Given the description of an element on the screen output the (x, y) to click on. 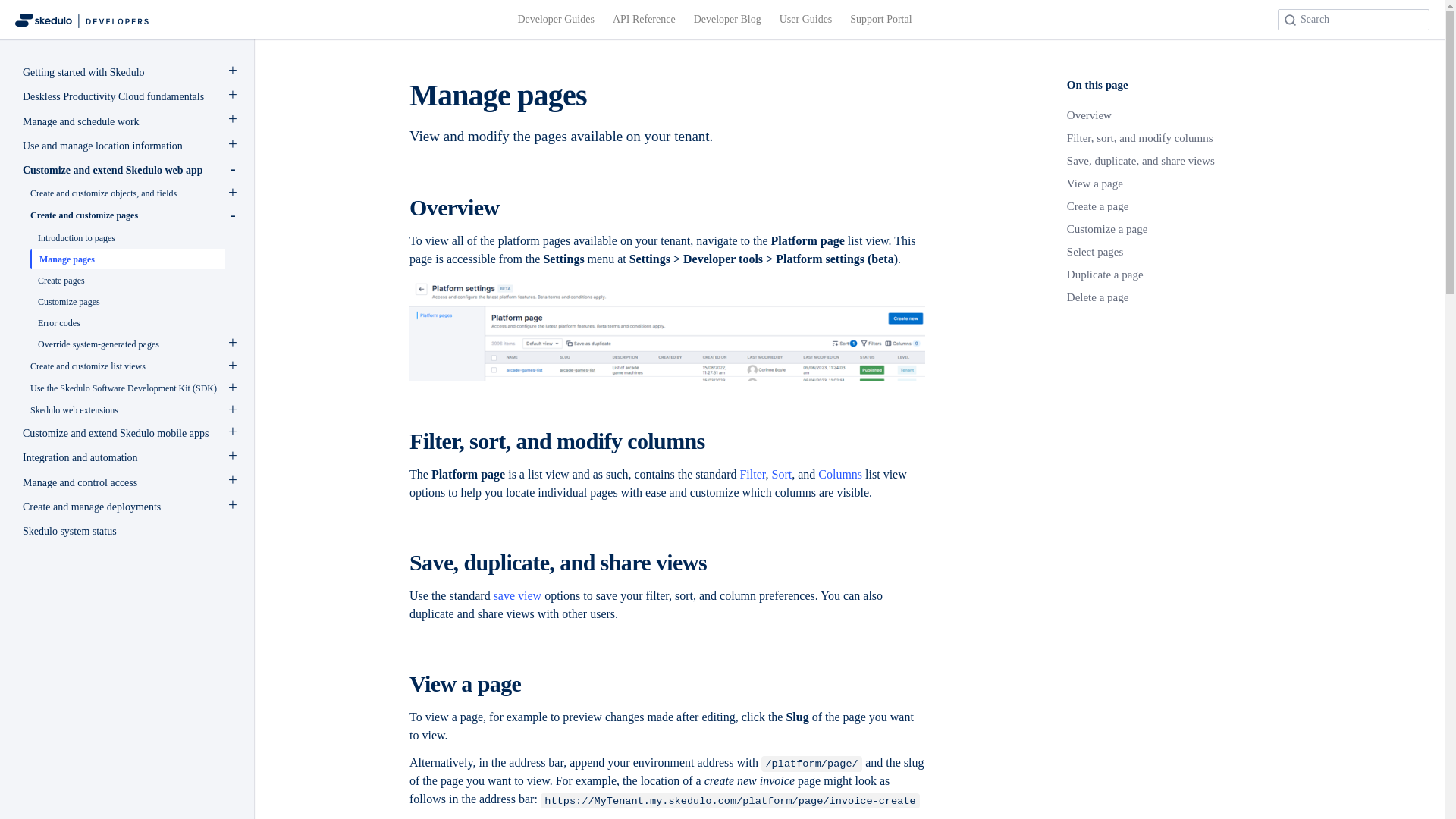
API Reference (643, 19)
Support Portal (880, 19)
Developer Blog (727, 19)
Search (1353, 19)
Developer Guides (555, 19)
User Guides (805, 19)
